Given the description of an element on the screen output the (x, y) to click on. 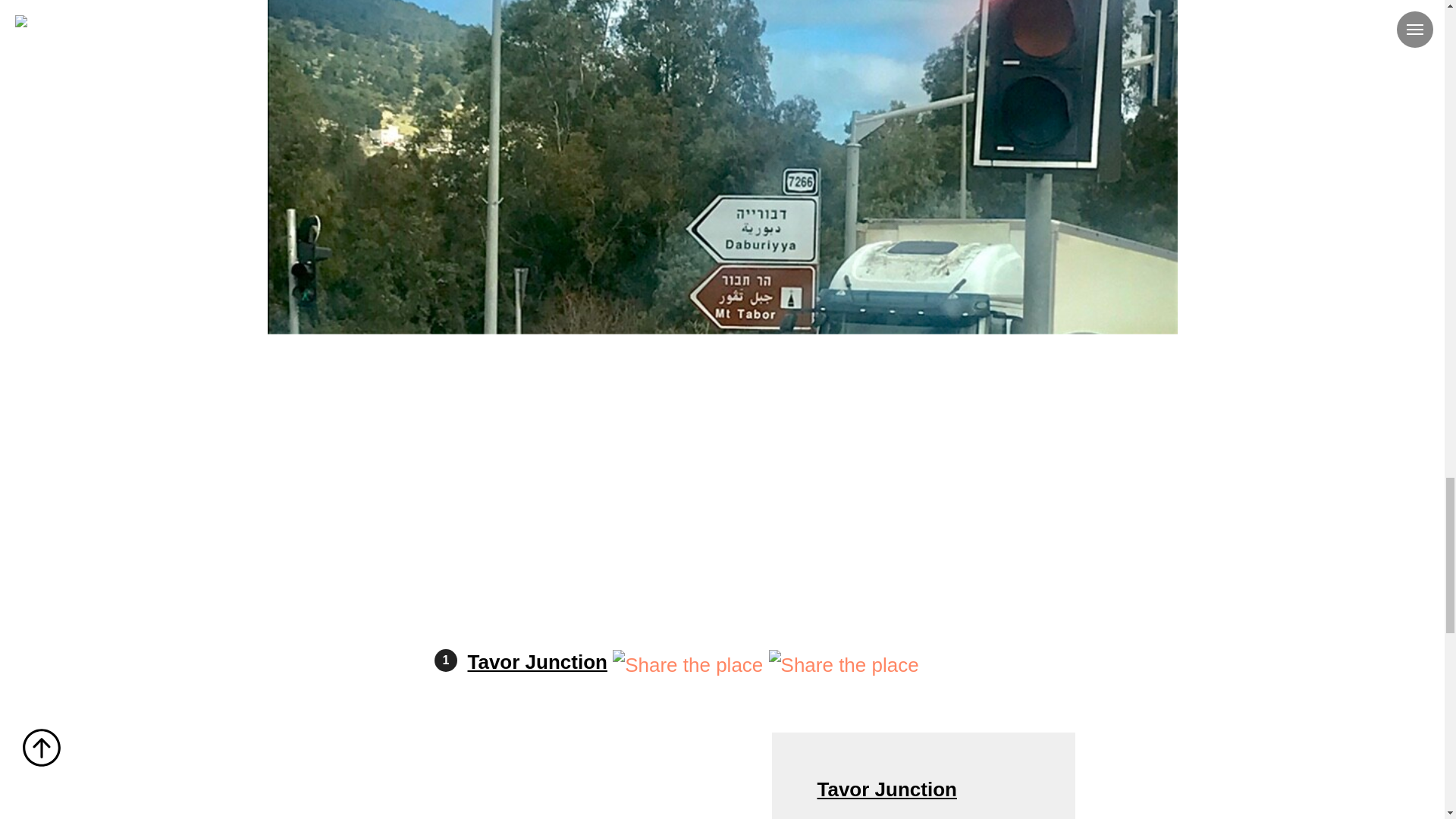
Tavor Junction (537, 661)
Tavor Junction (886, 789)
